Given the description of an element on the screen output the (x, y) to click on. 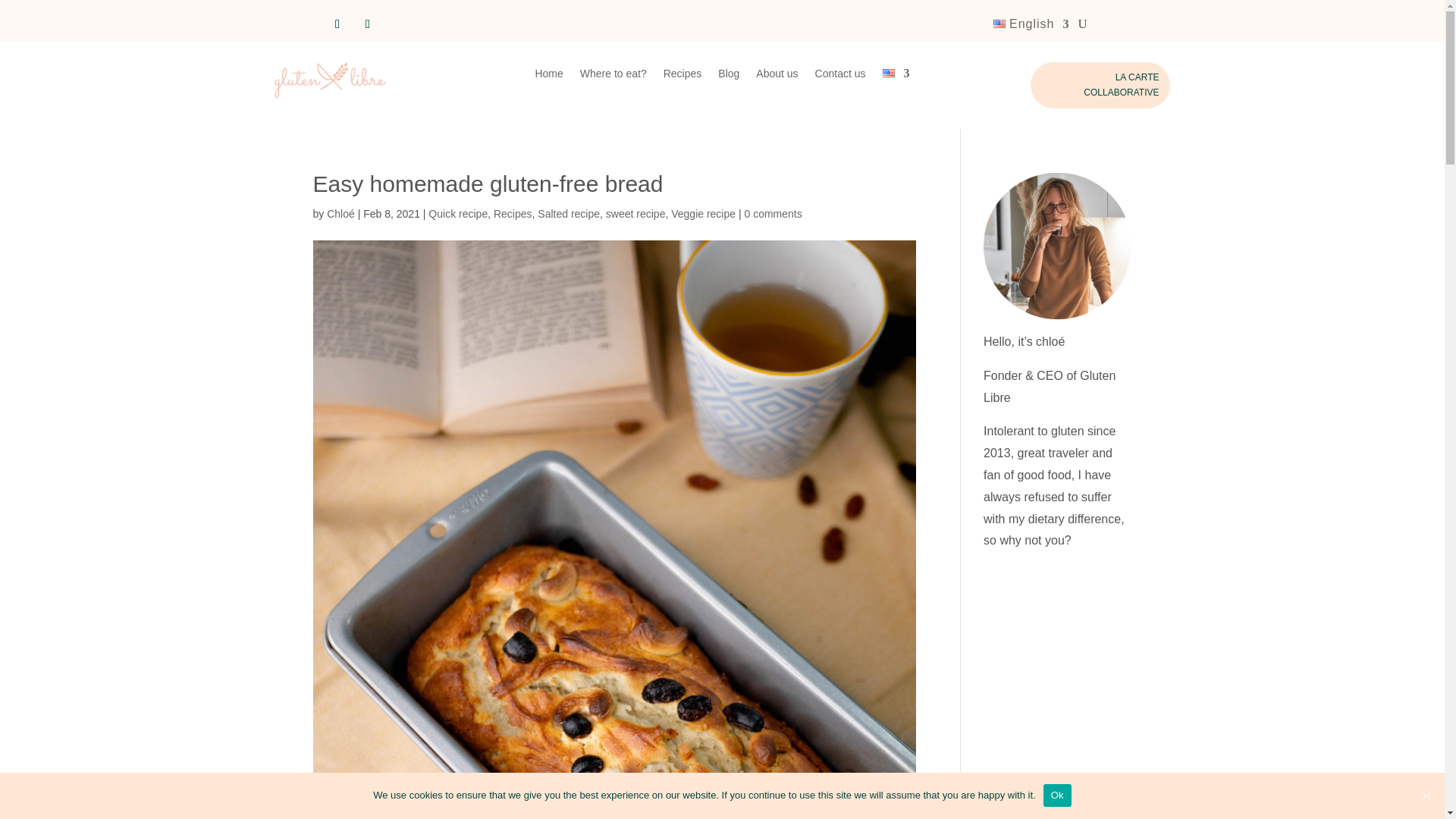
Follow on Instagram (367, 24)
logo gluten libre sans gluten (331, 80)
Blog (728, 76)
Recipes (682, 76)
Home (548, 76)
Where to eat? (612, 76)
Contact us (840, 76)
Follow on Facebook (336, 24)
About us (776, 76)
English (1030, 27)
LA CARTE COLLABORATIVE (1100, 85)
